Given the description of an element on the screen output the (x, y) to click on. 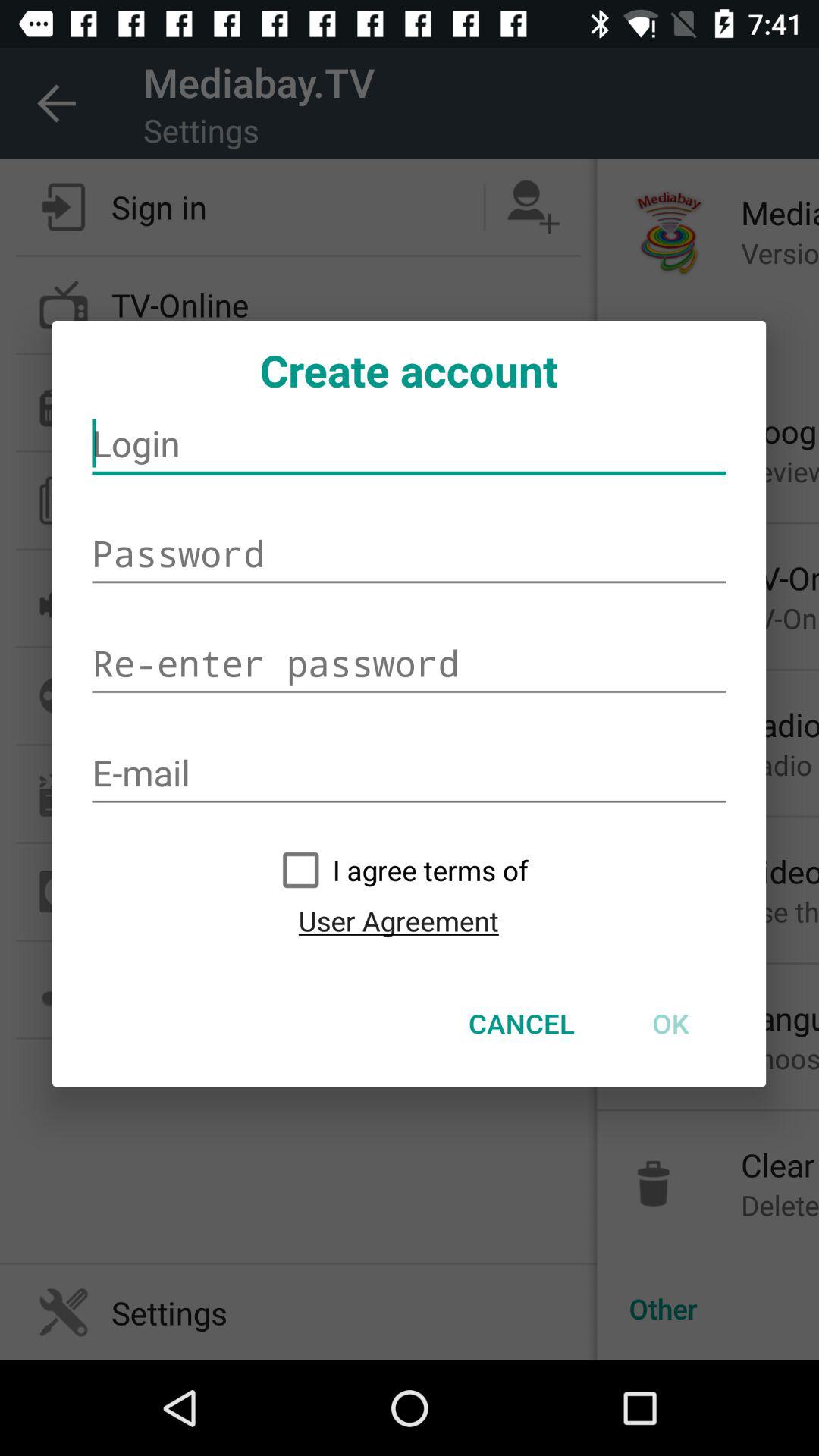
tap icon above the cancel item (398, 920)
